Given the description of an element on the screen output the (x, y) to click on. 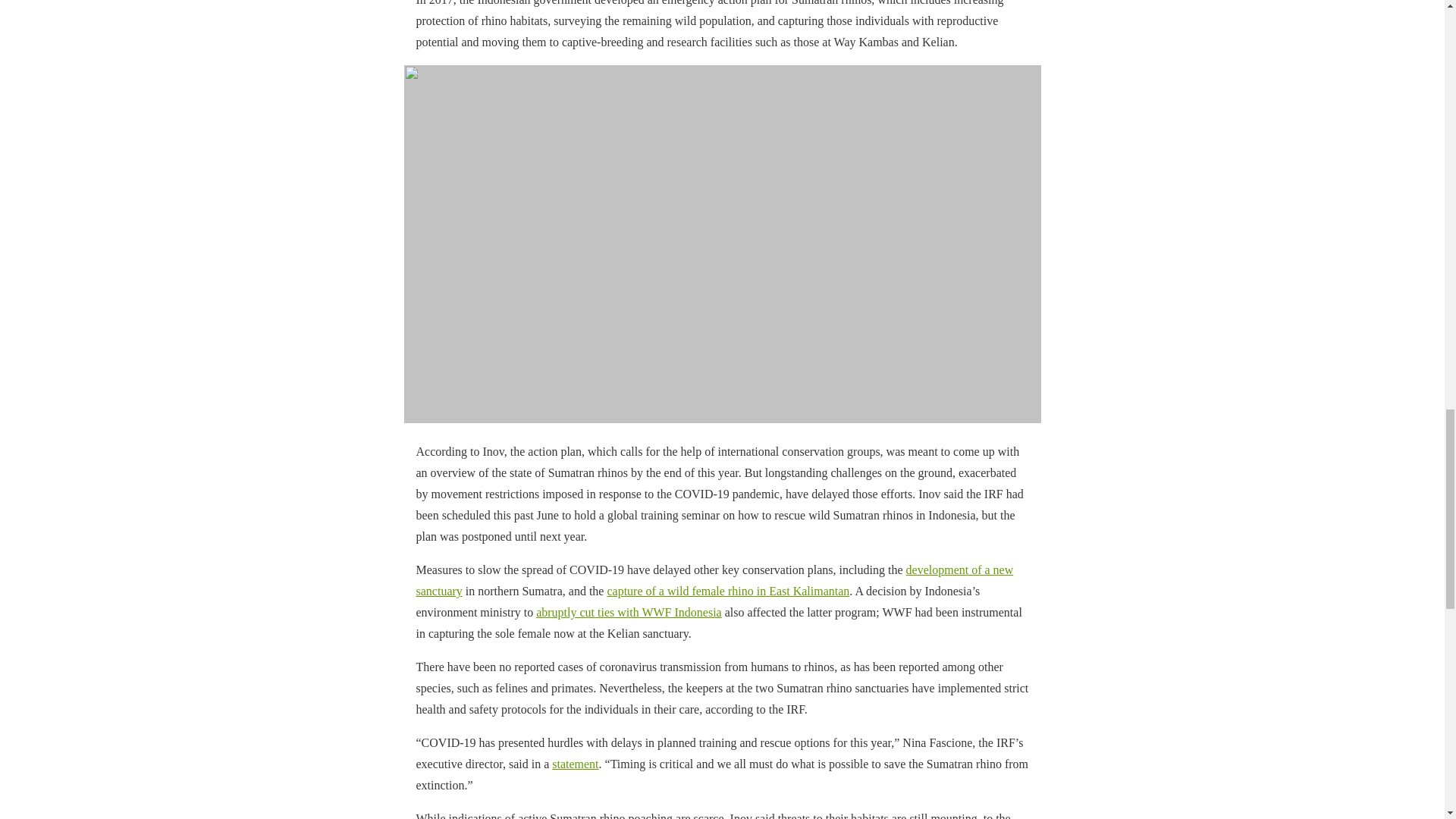
capture of a wild female rhino in East Kalimantan (727, 590)
development of a new sanctuary (713, 580)
statement (574, 763)
abruptly cut ties with WWF Indonesia (628, 612)
